Given the description of an element on the screen output the (x, y) to click on. 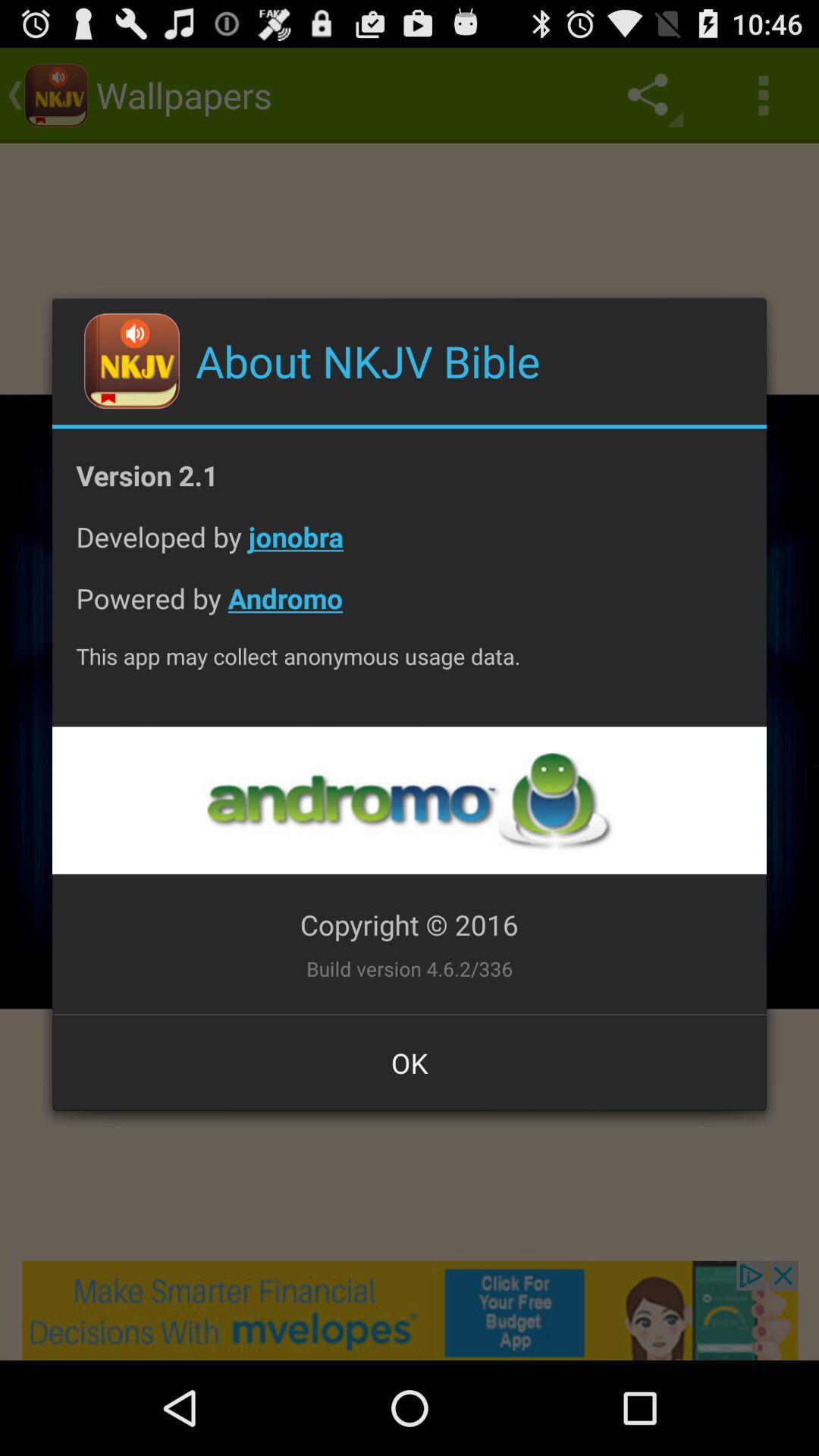
open the advertisement (408, 800)
